Given the description of an element on the screen output the (x, y) to click on. 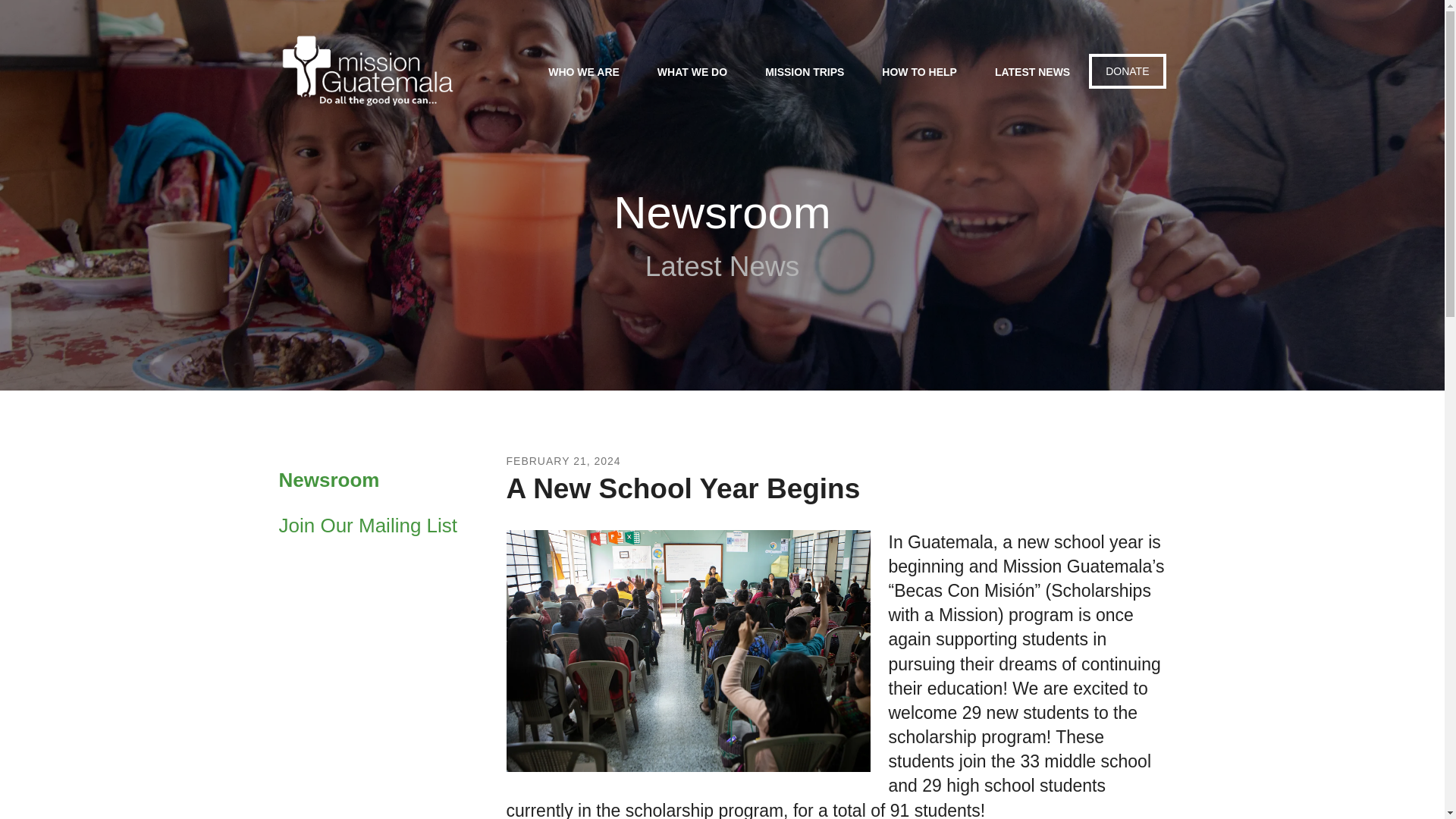
WHO WE ARE (584, 73)
WHAT WE DO (692, 73)
logo (368, 70)
